Given the description of an element on the screen output the (x, y) to click on. 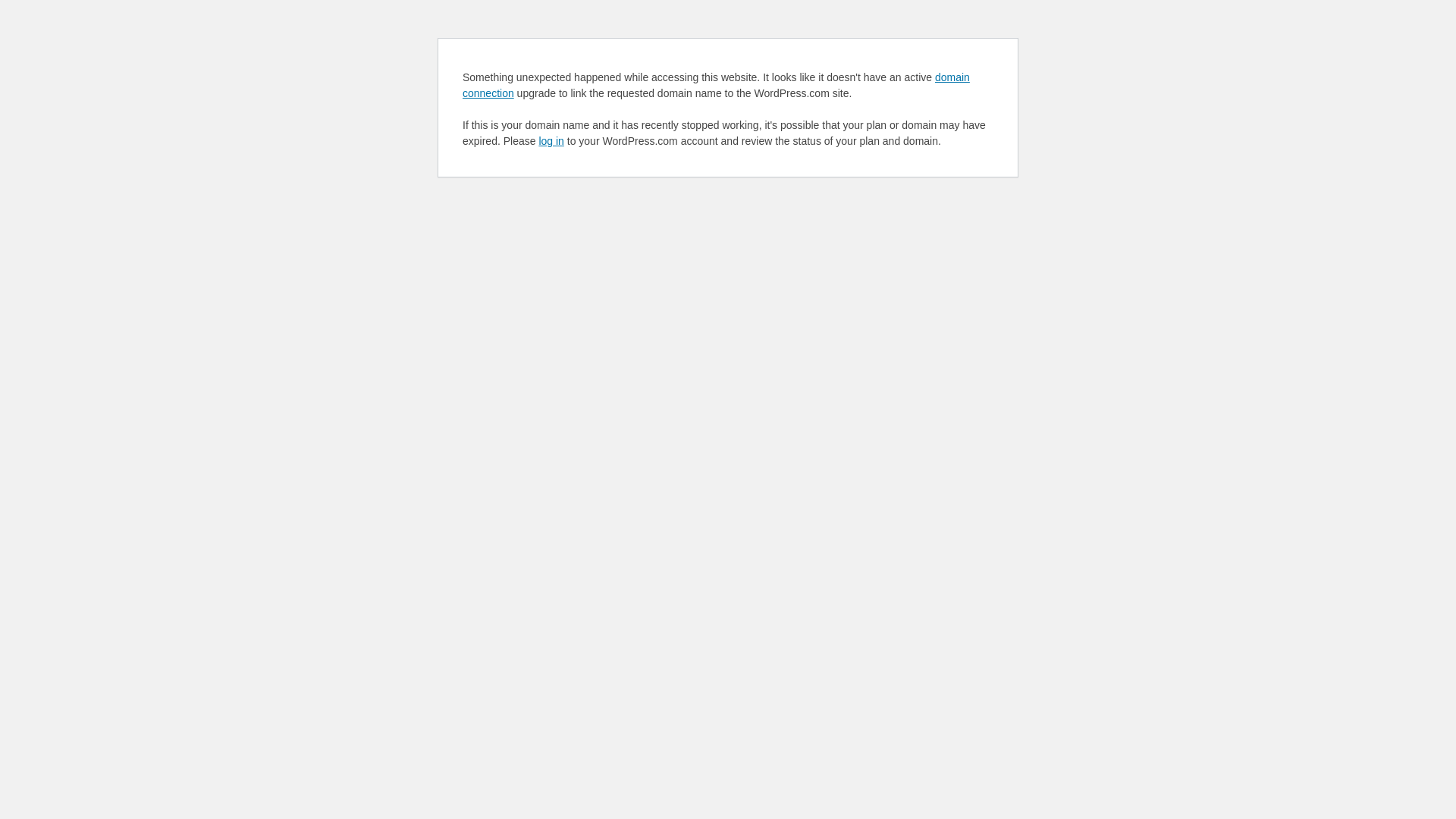
domain connection Element type: text (715, 85)
log in Element type: text (550, 140)
